Given the description of an element on the screen output the (x, y) to click on. 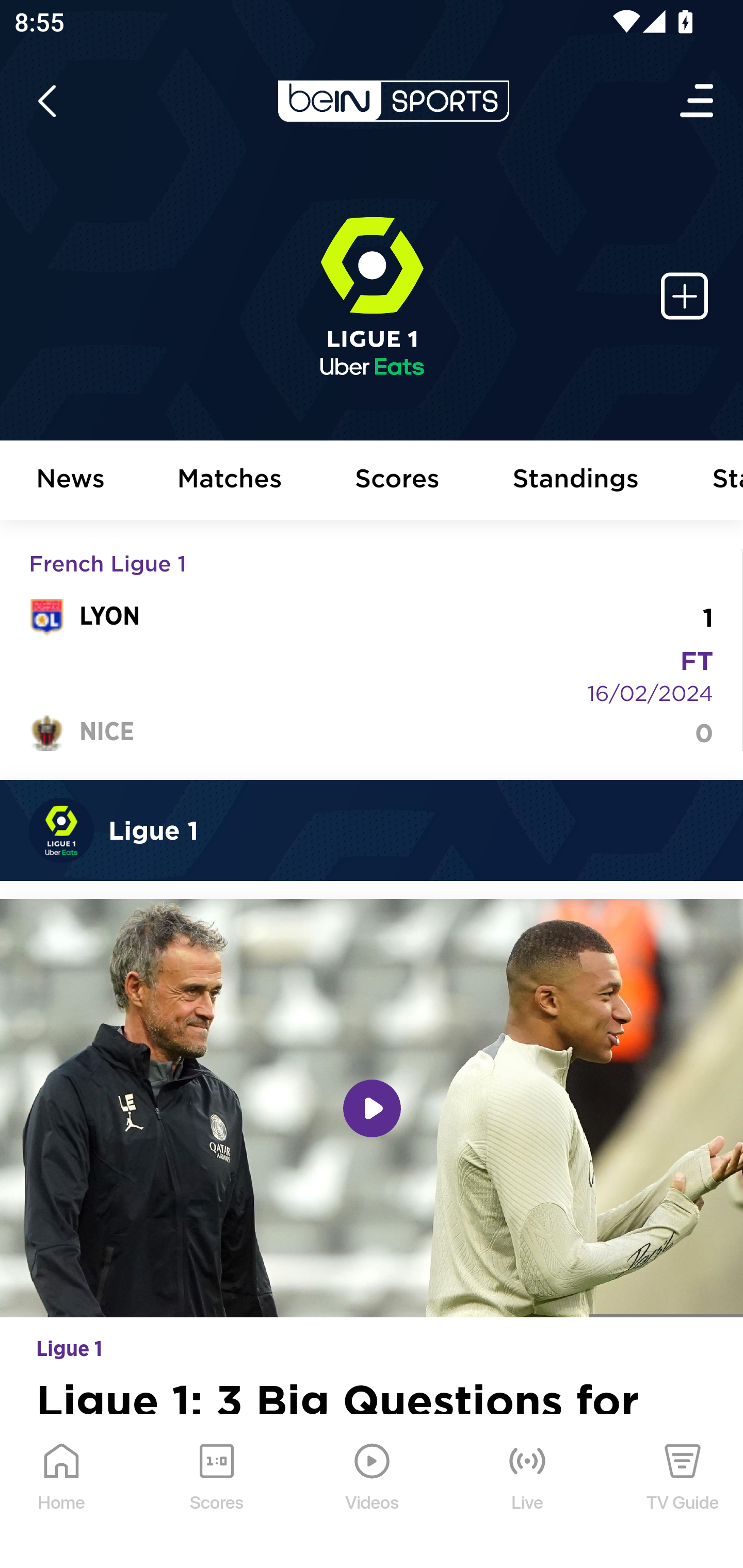
en-us?platform=mobile_android bein logo white (392, 101)
icon back (46, 101)
Open Menu Icon (697, 101)
News (70, 480)
Matches (229, 480)
Scores (397, 480)
Standings (575, 480)
Home Home Icon Home (61, 1491)
Scores Scores Icon Scores (216, 1491)
Videos Videos Icon Videos (372, 1491)
TV Guide TV Guide Icon TV Guide (682, 1491)
